Given the description of an element on the screen output the (x, y) to click on. 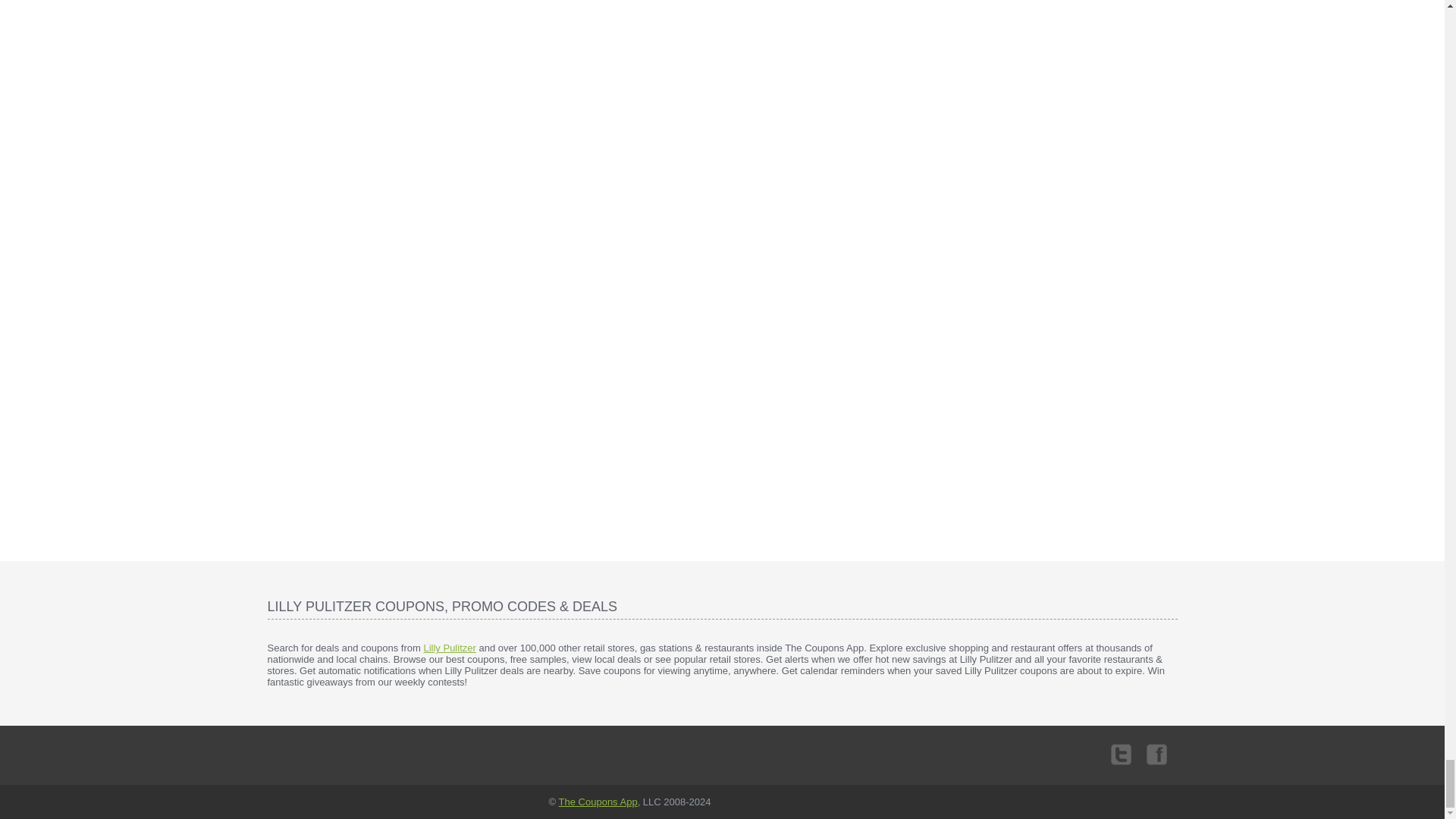
Twitter (1120, 753)
Lilly Pulitzer (449, 647)
Facebook (1154, 753)
Twitter (1120, 753)
The Coupons App (598, 801)
Facebook (1154, 753)
